Given the description of an element on the screen output the (x, y) to click on. 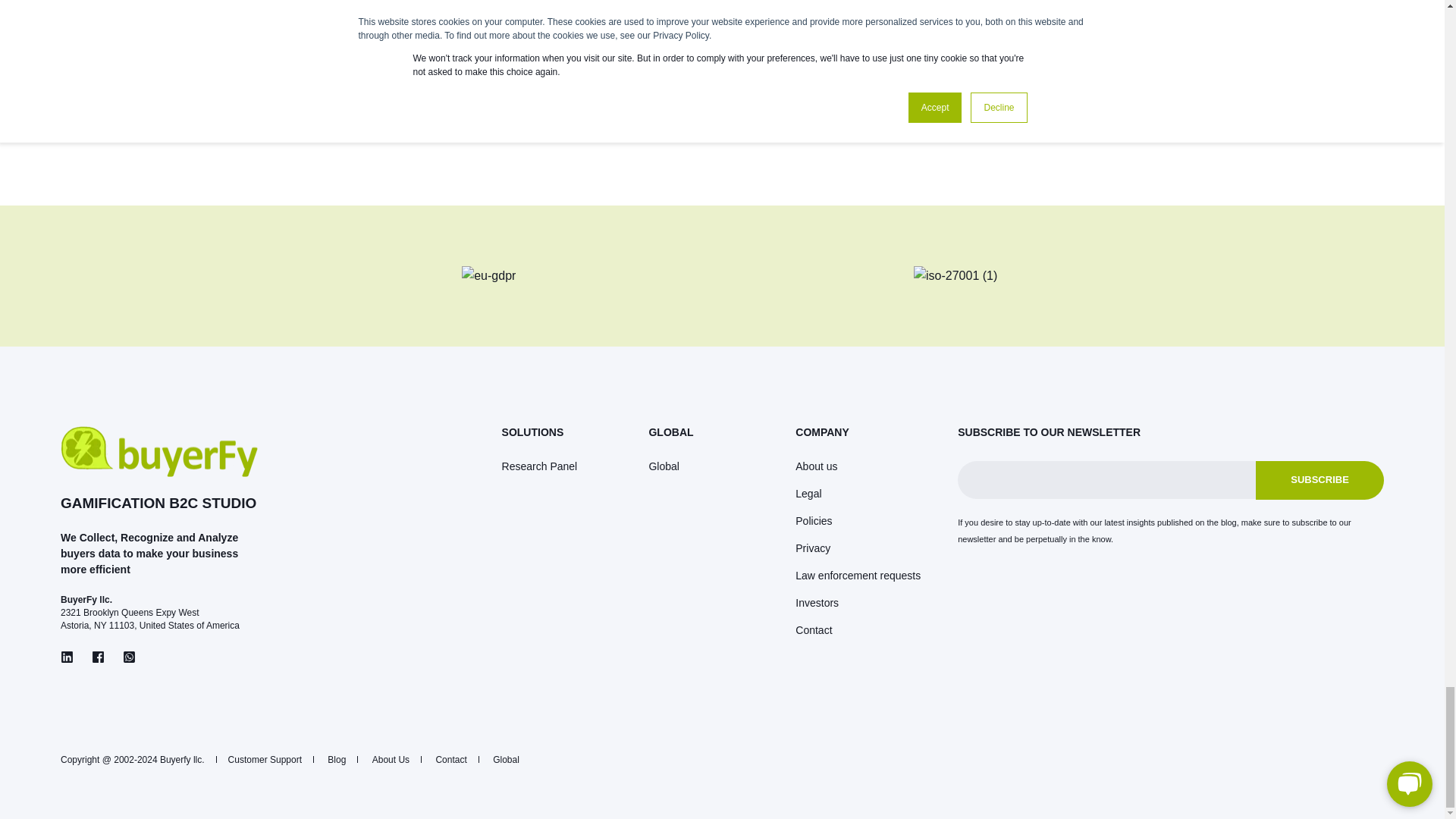
Subscribe (1319, 480)
